Given the description of an element on the screen output the (x, y) to click on. 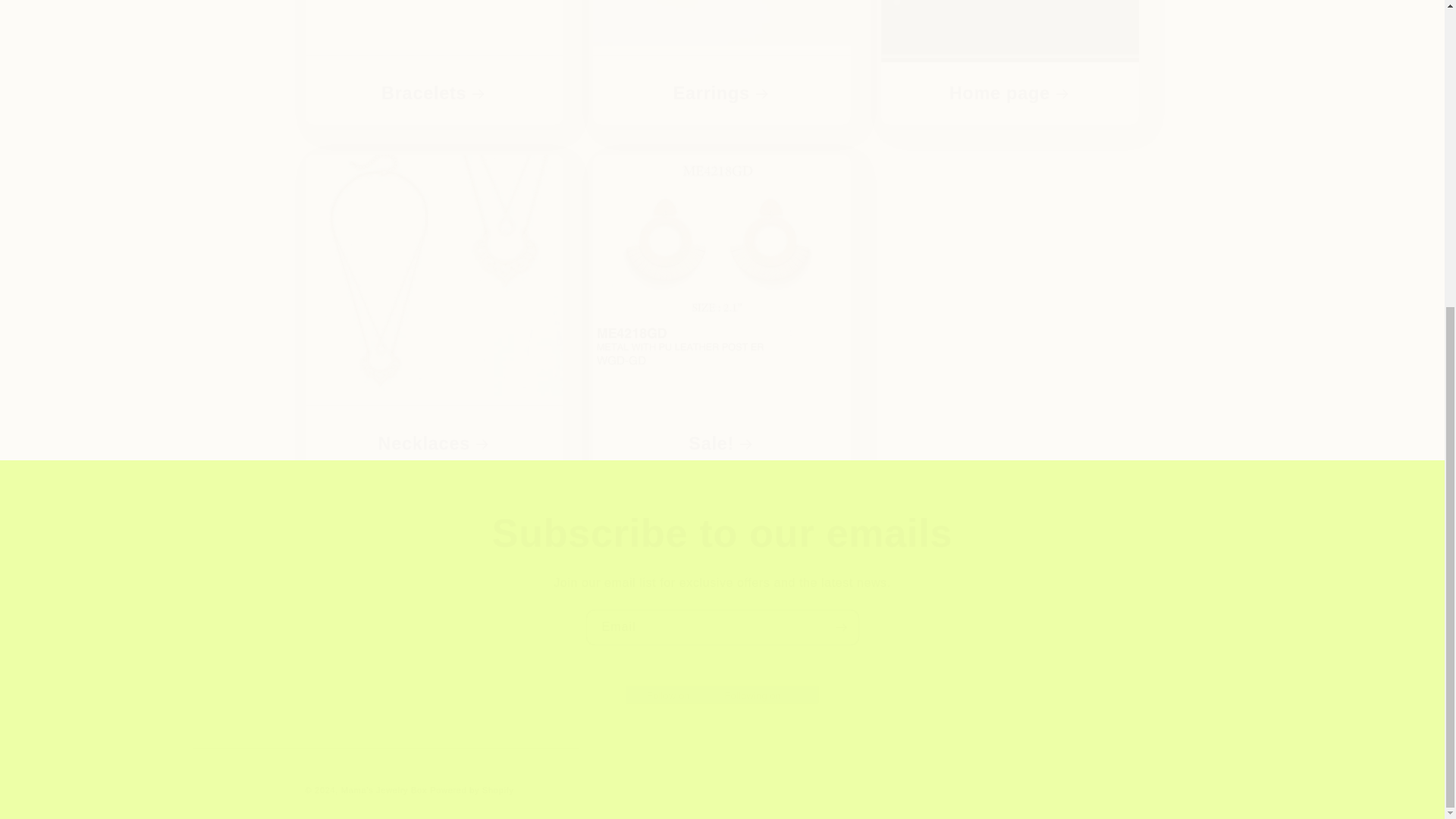
Powered by Shopify (471, 789)
Necklaces (433, 444)
Home page (1009, 62)
Bracelets (433, 62)
Sale! (721, 444)
Home page (1010, 93)
Email (722, 627)
Bracelets (433, 93)
Earrings (721, 62)
